Given the description of an element on the screen output the (x, y) to click on. 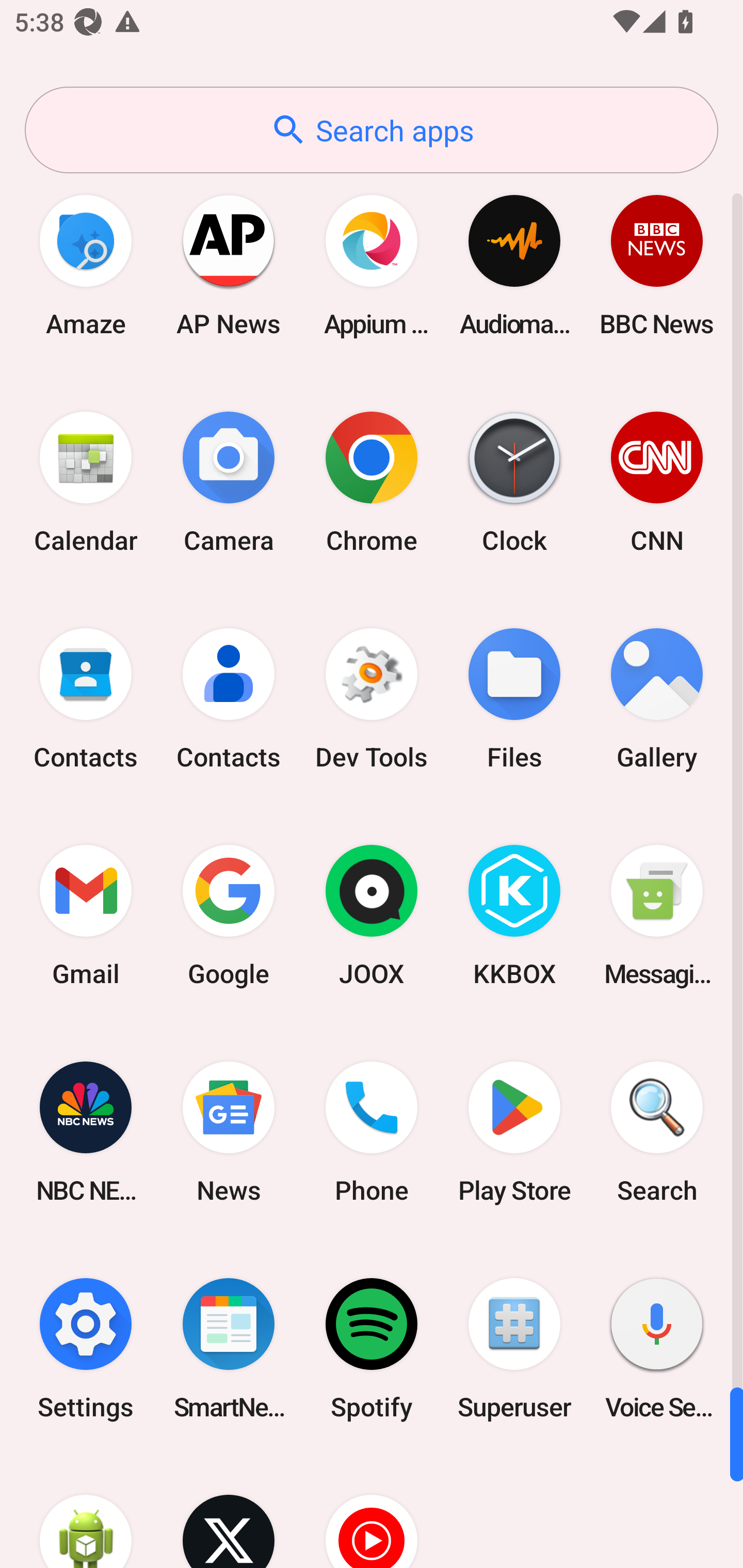
  Search apps (371, 130)
Amaze (85, 264)
AP News (228, 264)
Appium Settings (371, 264)
Audio­mack (514, 264)
BBC News (656, 264)
Calendar (85, 482)
Camera (228, 482)
Chrome (371, 482)
Clock (514, 482)
CNN (656, 482)
Contacts (85, 699)
Contacts (228, 699)
Dev Tools (371, 699)
Files (514, 699)
Gallery (656, 699)
Gmail (85, 915)
Google (228, 915)
JOOX (371, 915)
KKBOX (514, 915)
Messaging (656, 915)
NBC NEWS (85, 1131)
News (228, 1131)
Phone (371, 1131)
Play Store (514, 1131)
Search (656, 1131)
Settings (85, 1348)
SmartNews (228, 1348)
Spotify (371, 1348)
Superuser (514, 1348)
Voice Search (656, 1348)
WebView Browser Tester (85, 1512)
X (228, 1512)
YT Music (371, 1512)
